Given the description of an element on the screen output the (x, y) to click on. 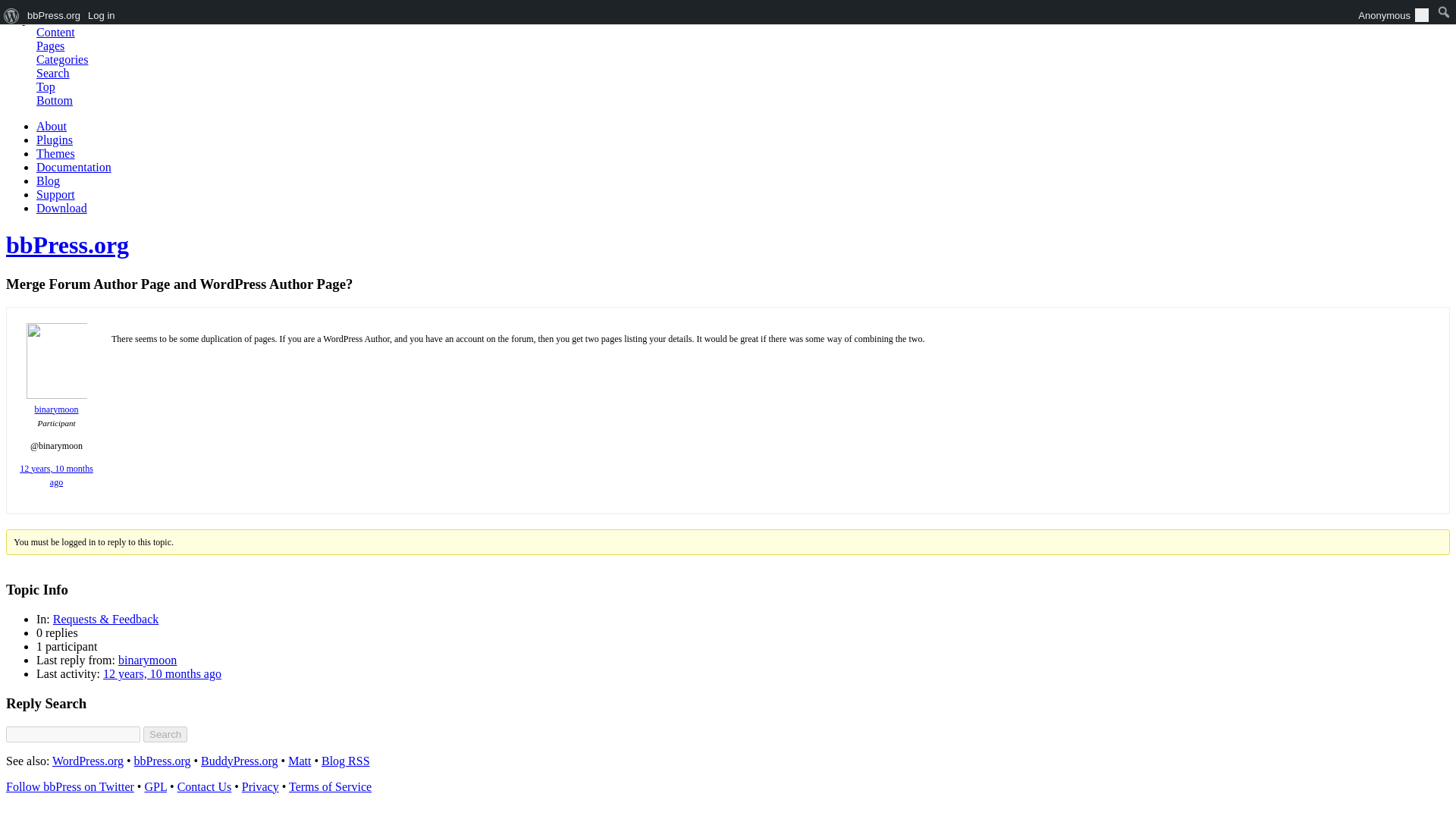
Blog (47, 180)
Categories (61, 59)
12 years, 10 months ago (56, 475)
Download (61, 207)
12 years, 10 months ago (162, 673)
Matt (299, 760)
Top (45, 86)
bbPress.org (161, 760)
Search (164, 734)
BuddyPress.org (239, 760)
